Given the description of an element on the screen output the (x, y) to click on. 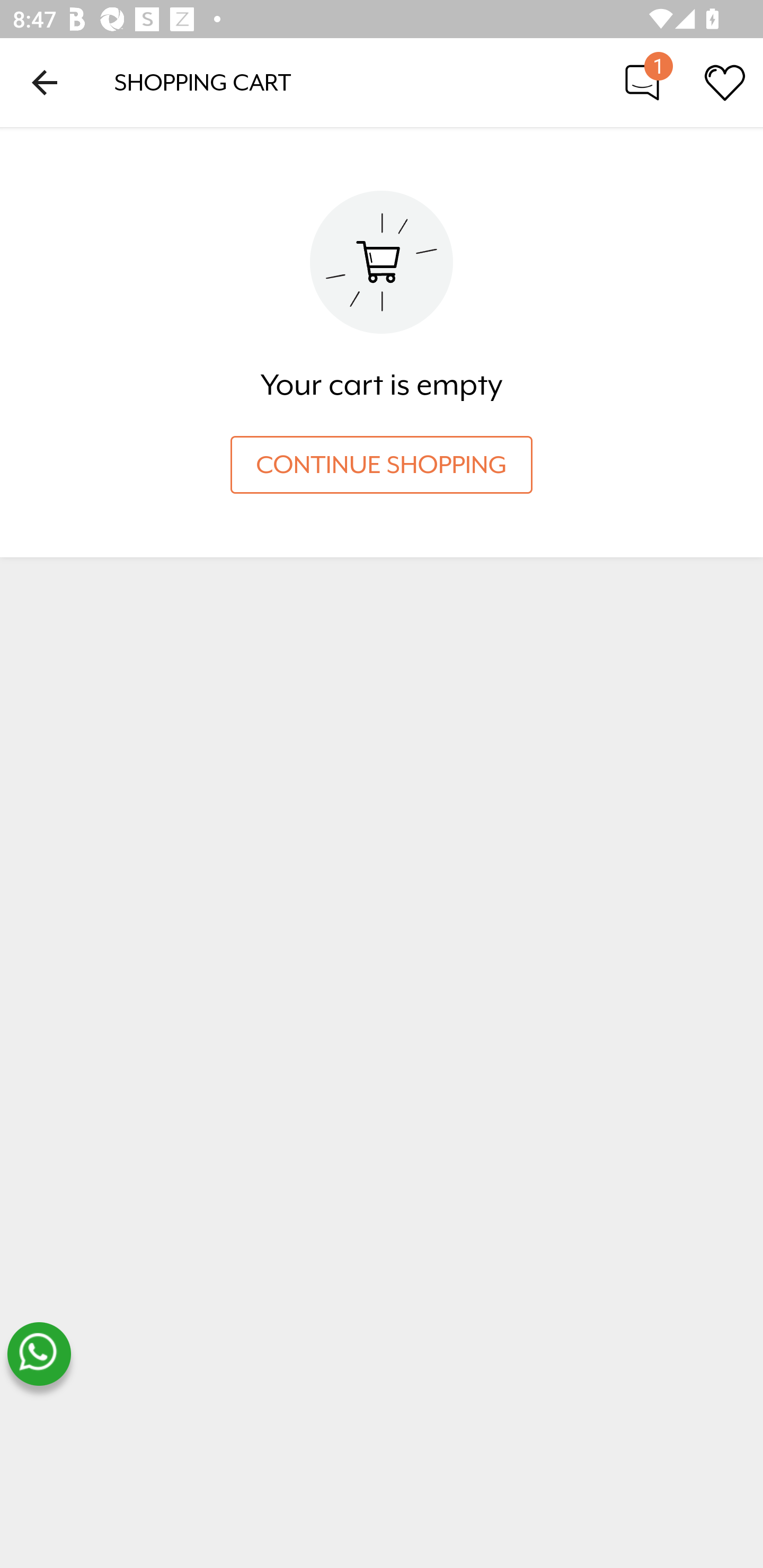
Navigate up (44, 82)
Chat (641, 81)
Wishlist (724, 81)
CONTINUE SHOPPING (381, 464)
whatsapp (38, 1353)
